Given the description of an element on the screen output the (x, y) to click on. 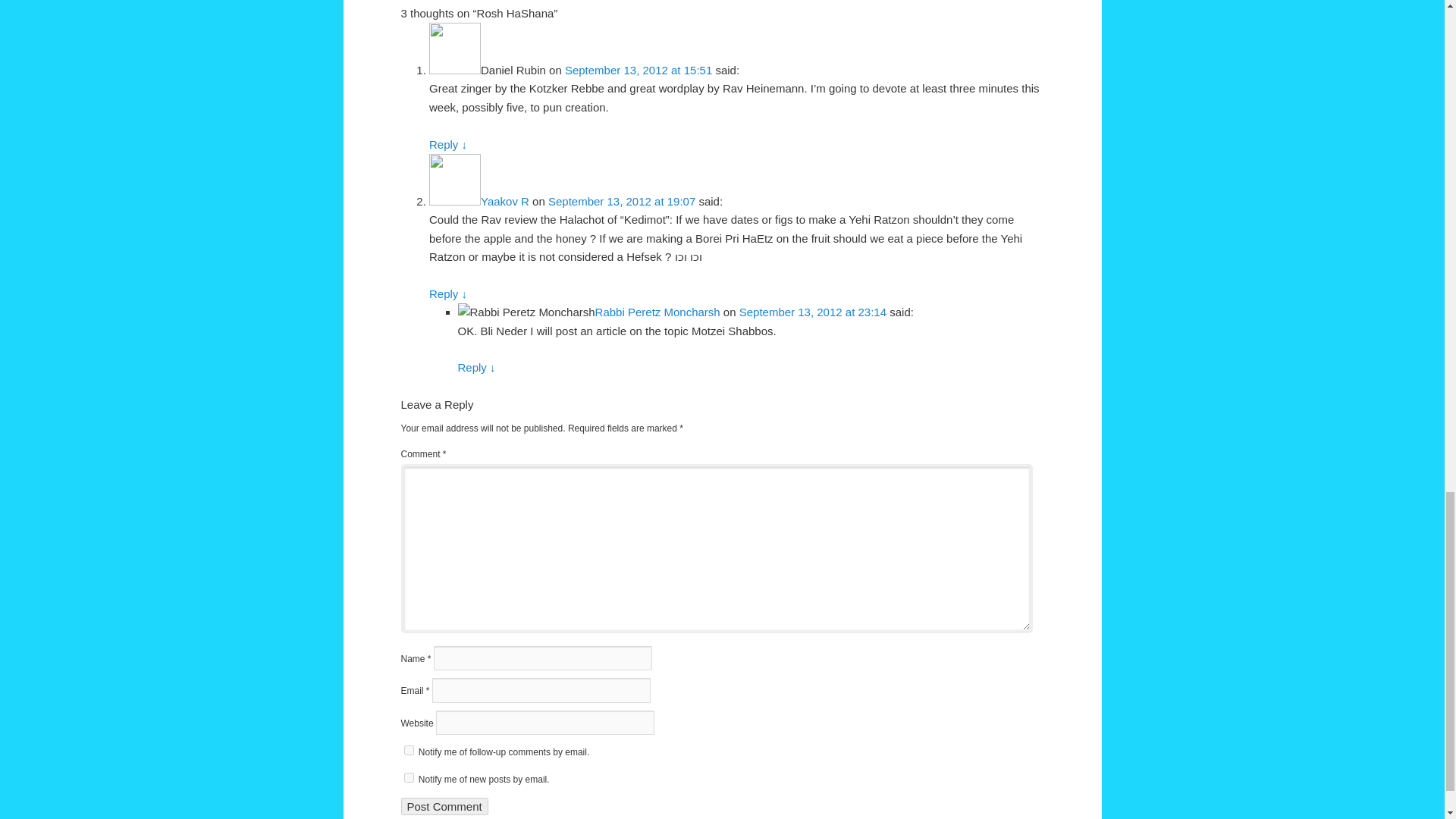
subscribe (408, 777)
Post Comment (443, 805)
subscribe (408, 750)
